Given the description of an element on the screen output the (x, y) to click on. 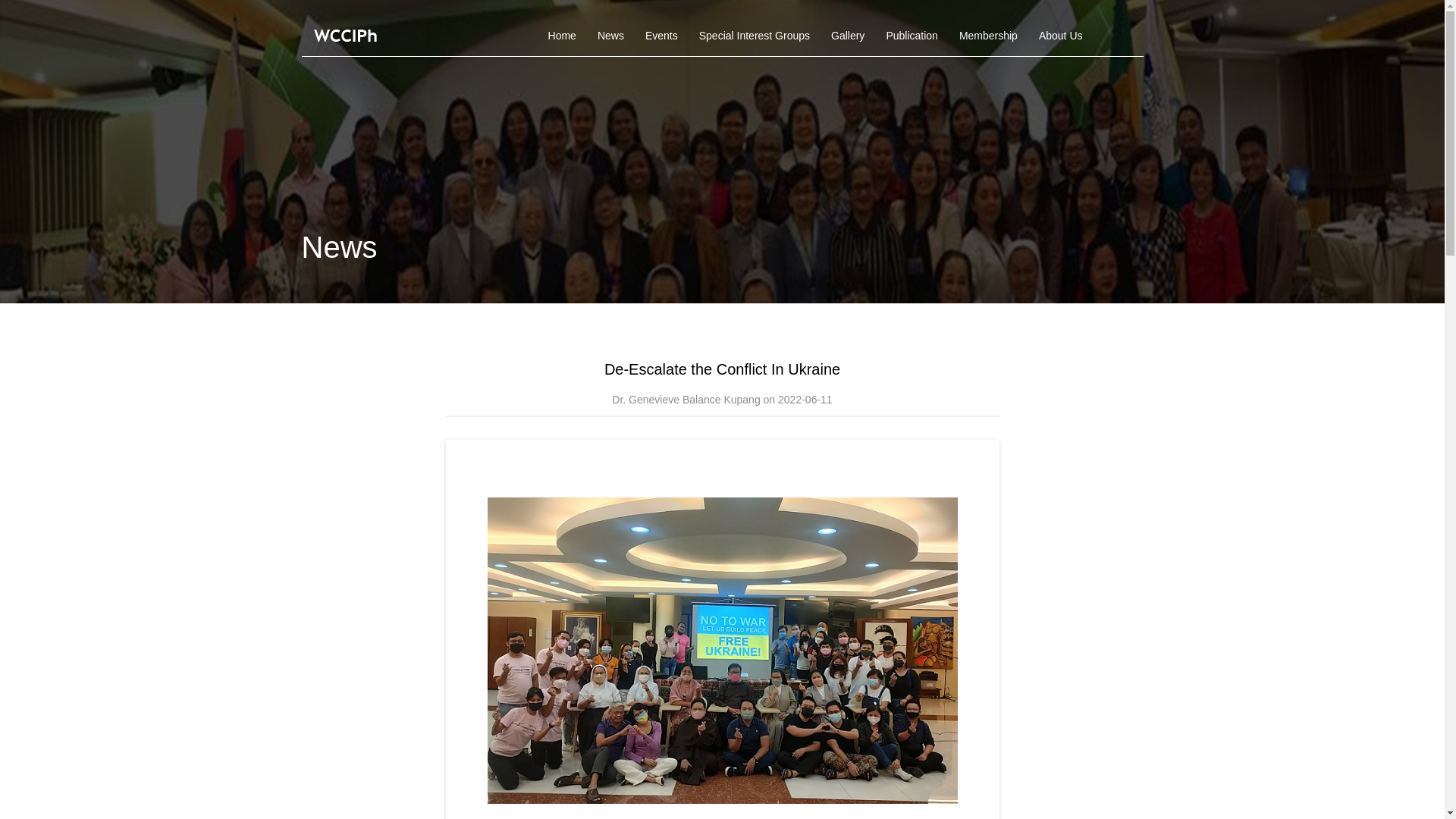
News (610, 35)
Events (661, 35)
2022-06-11 (804, 399)
Home (561, 35)
Publication (912, 35)
Special Interest Groups (754, 35)
About Us (1060, 35)
Membership (988, 35)
Dr. Genevieve Balance Kupang (685, 399)
Gallery (848, 35)
